Given the description of an element on the screen output the (x, y) to click on. 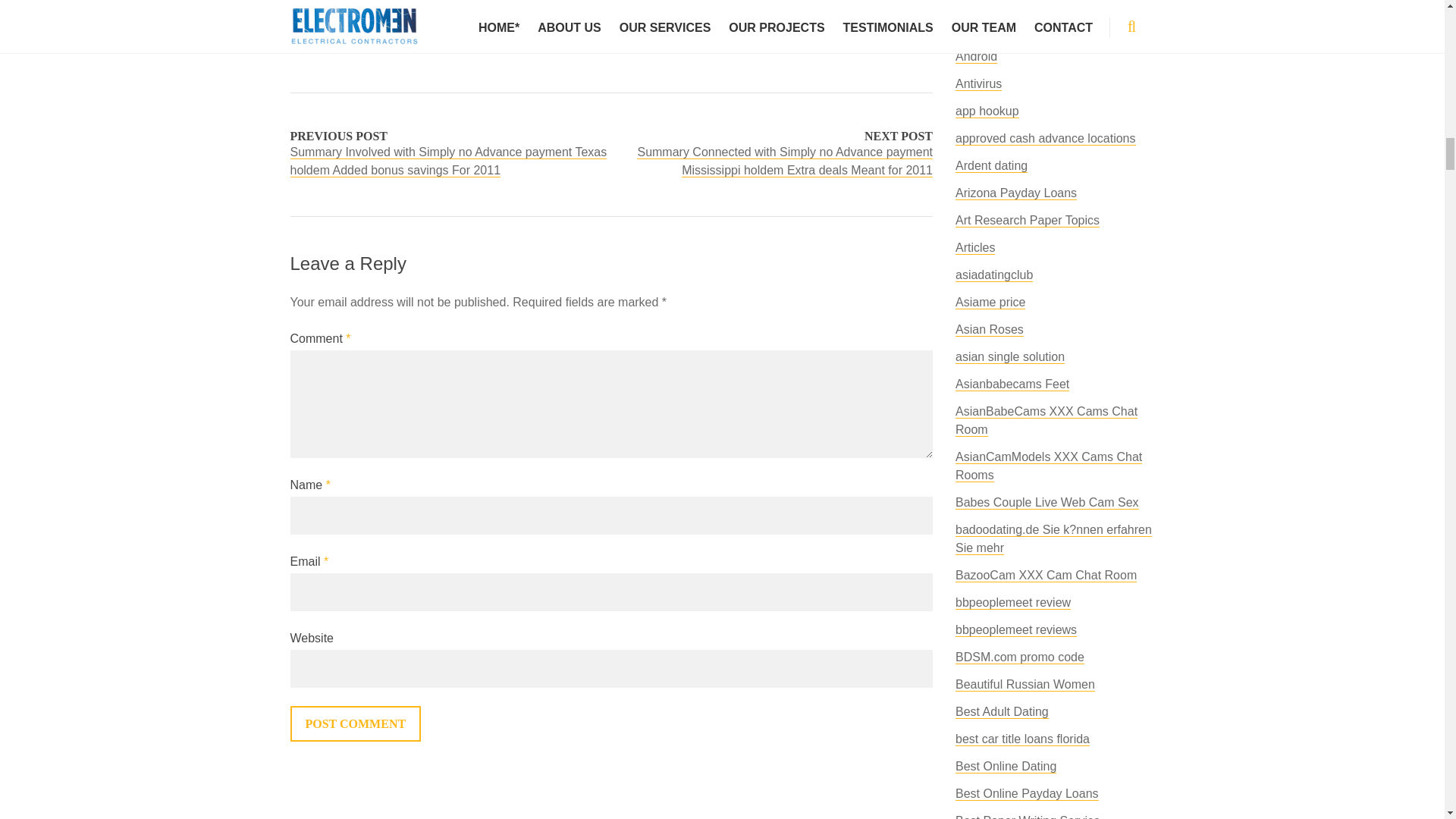
Post Comment (354, 723)
Post Comment (354, 723)
